Given the description of an element on the screen output the (x, y) to click on. 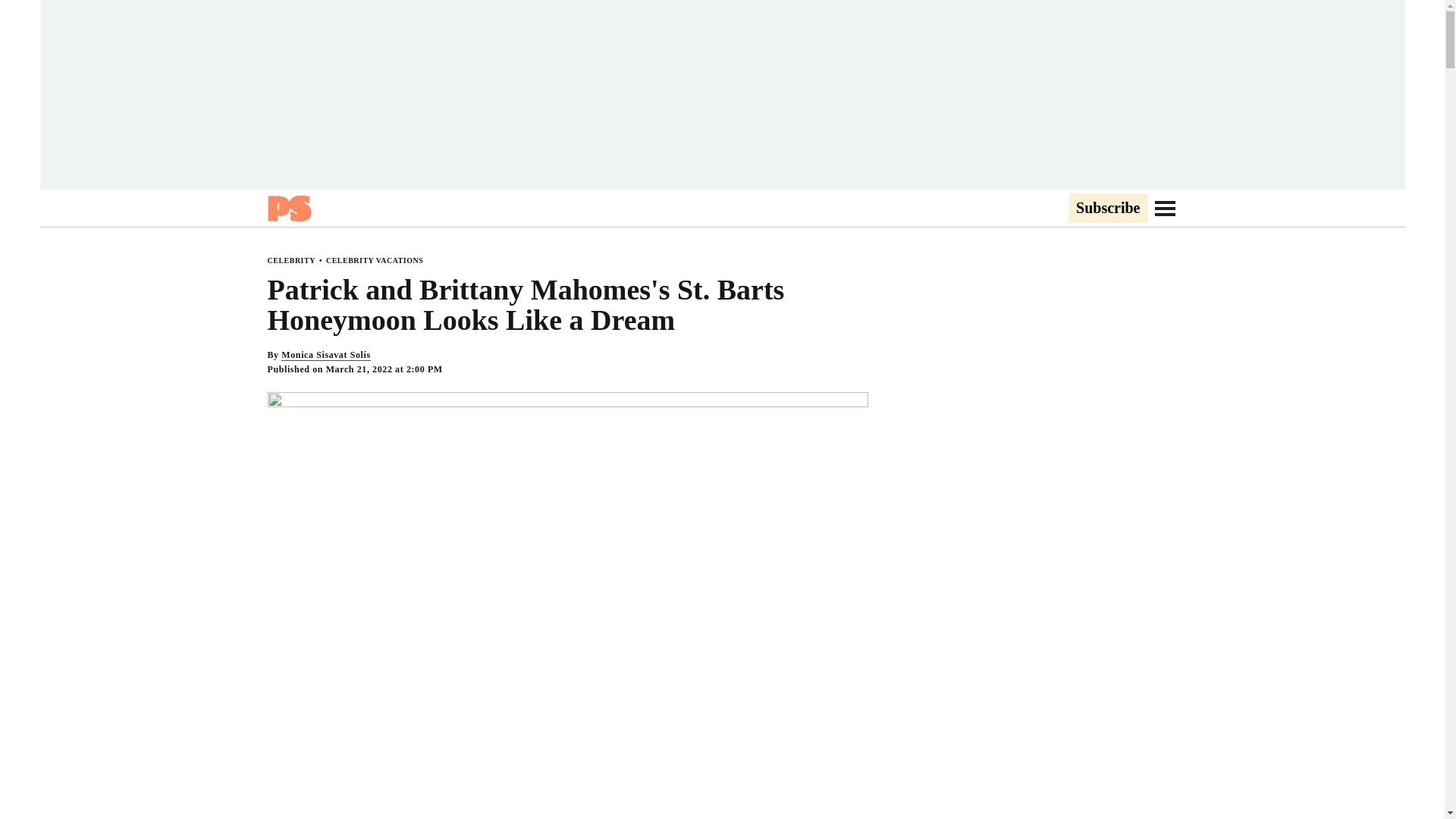
Go to Navigation (1164, 207)
CELEBRITY VACATIONS (374, 260)
Go to Navigation (1164, 207)
Popsugar (288, 208)
CELEBRITY (290, 260)
Subscribe (1107, 208)
